Given the description of an element on the screen output the (x, y) to click on. 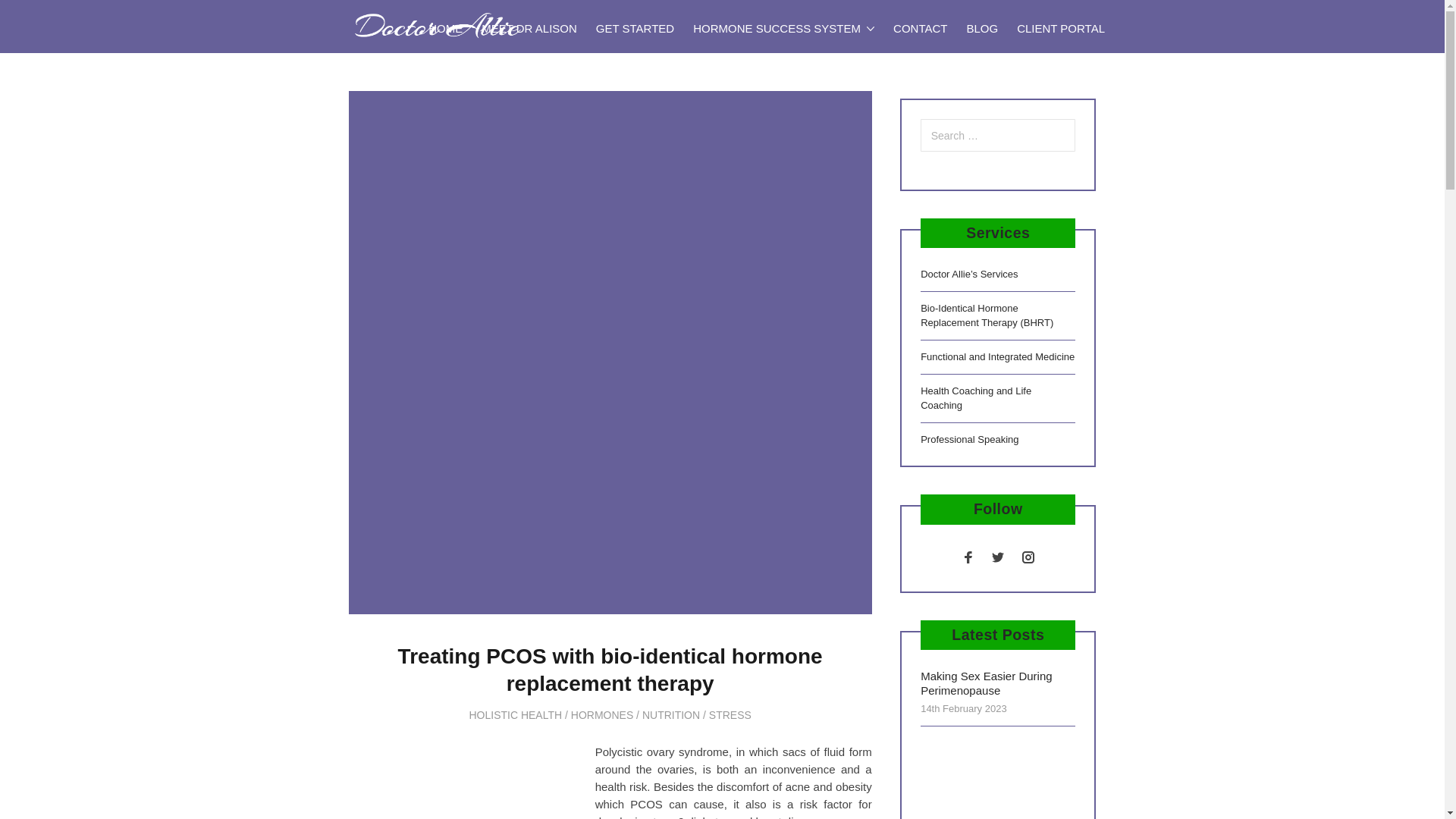
HORMONES (601, 715)
Search (41, 16)
HORMONE SUCCESS SYSTEM (783, 28)
NUTRITION (671, 715)
BLOG (981, 28)
CLIENT PORTAL (1061, 28)
HOLISTIC HEALTH (515, 715)
HOME (445, 28)
MEET DR ALISON (528, 28)
GET STARTED (634, 28)
